Given the description of an element on the screen output the (x, y) to click on. 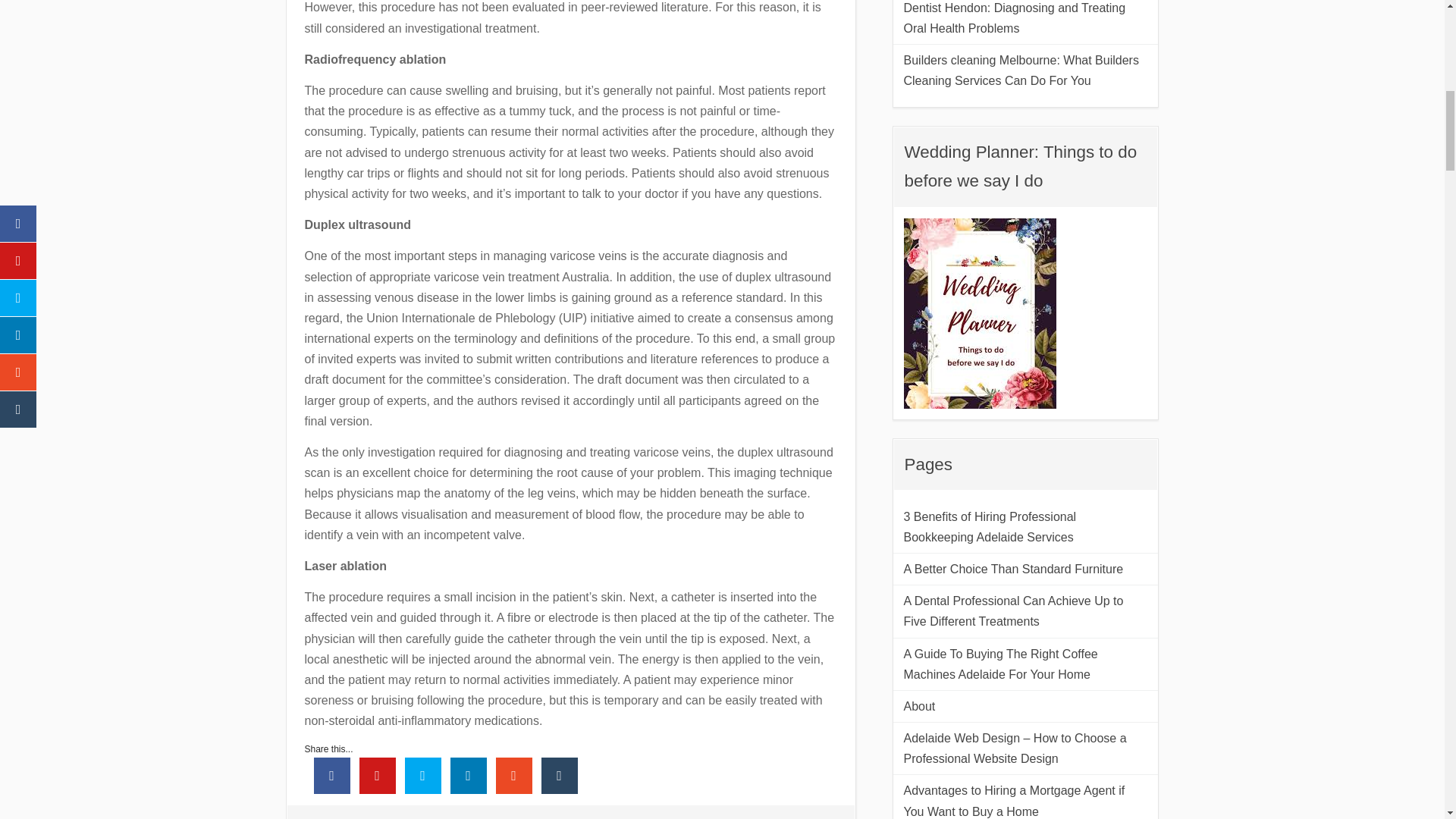
A Better Choice Than Standard Furniture (1026, 568)
About (1026, 706)
Dentist Hendon: Diagnosing and Treating Oral Health Problems (1026, 19)
